Given the description of an element on the screen output the (x, y) to click on. 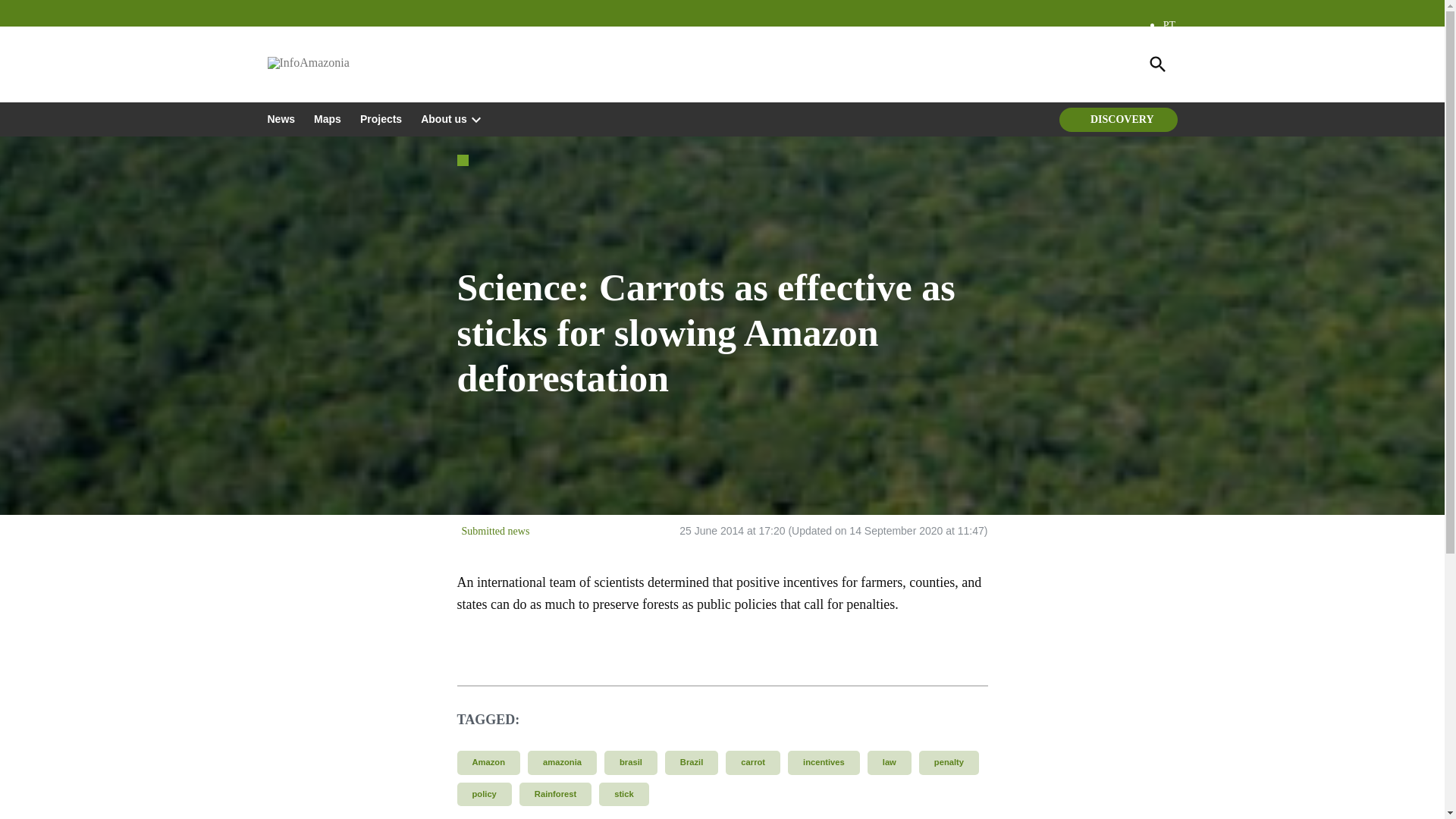
Facebook (325, 49)
Instagram (301, 49)
PT (1168, 25)
Open Search (1156, 64)
YouTube (351, 49)
Twitter (275, 49)
ES (1168, 47)
EN (1170, 69)
InfoAmazonia (409, 73)
